Given the description of an element on the screen output the (x, y) to click on. 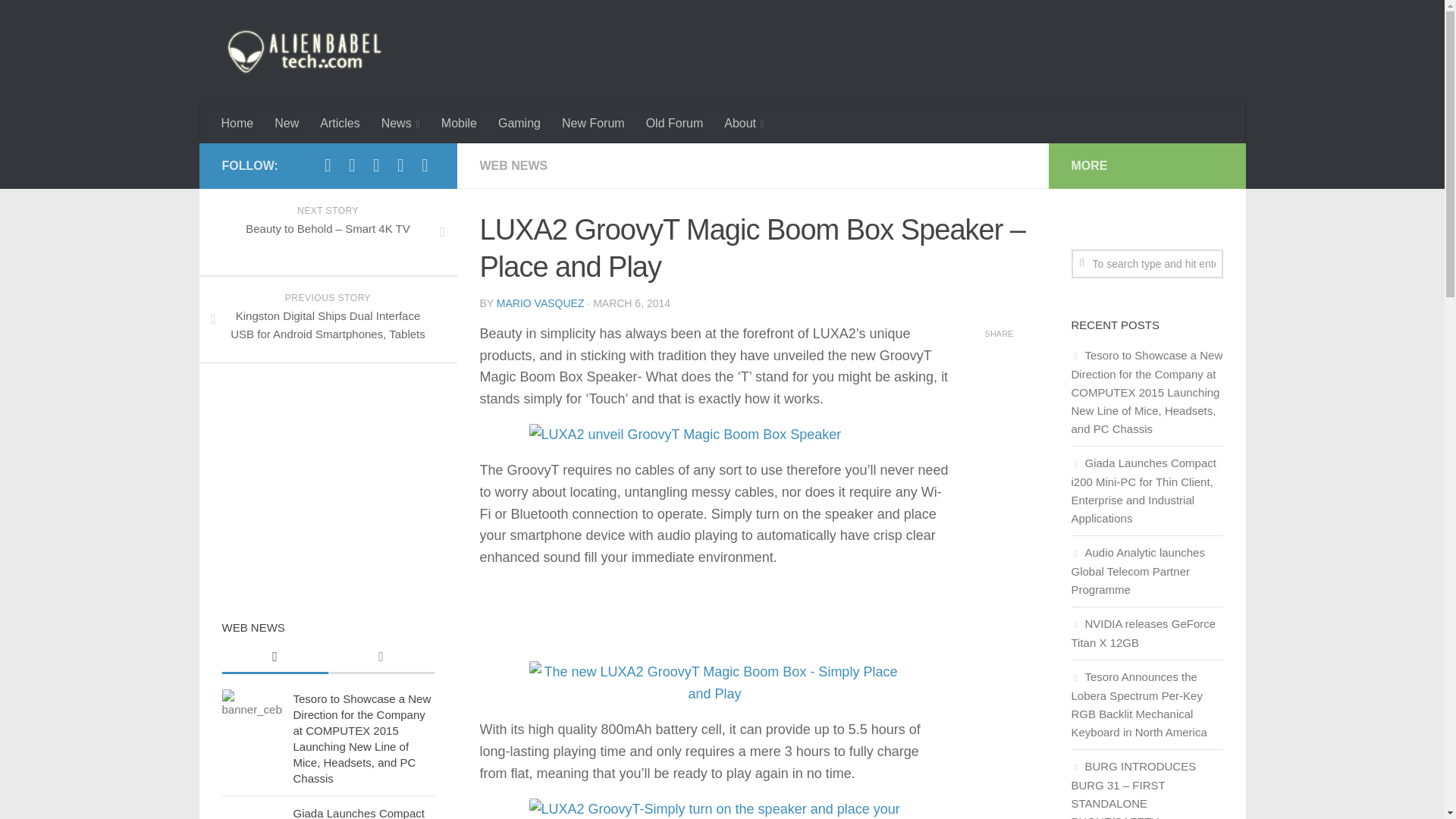
New (285, 123)
New Forum (592, 123)
Old Forum (674, 123)
About (743, 123)
To search type and hit enter (1146, 263)
WEB NEWS (513, 164)
MARIO VASQUEZ (540, 303)
Youtube (375, 165)
Twitter (351, 165)
Mobile (458, 123)
Recent Posts (274, 657)
Gaming (519, 123)
Home (237, 123)
